Given the description of an element on the screen output the (x, y) to click on. 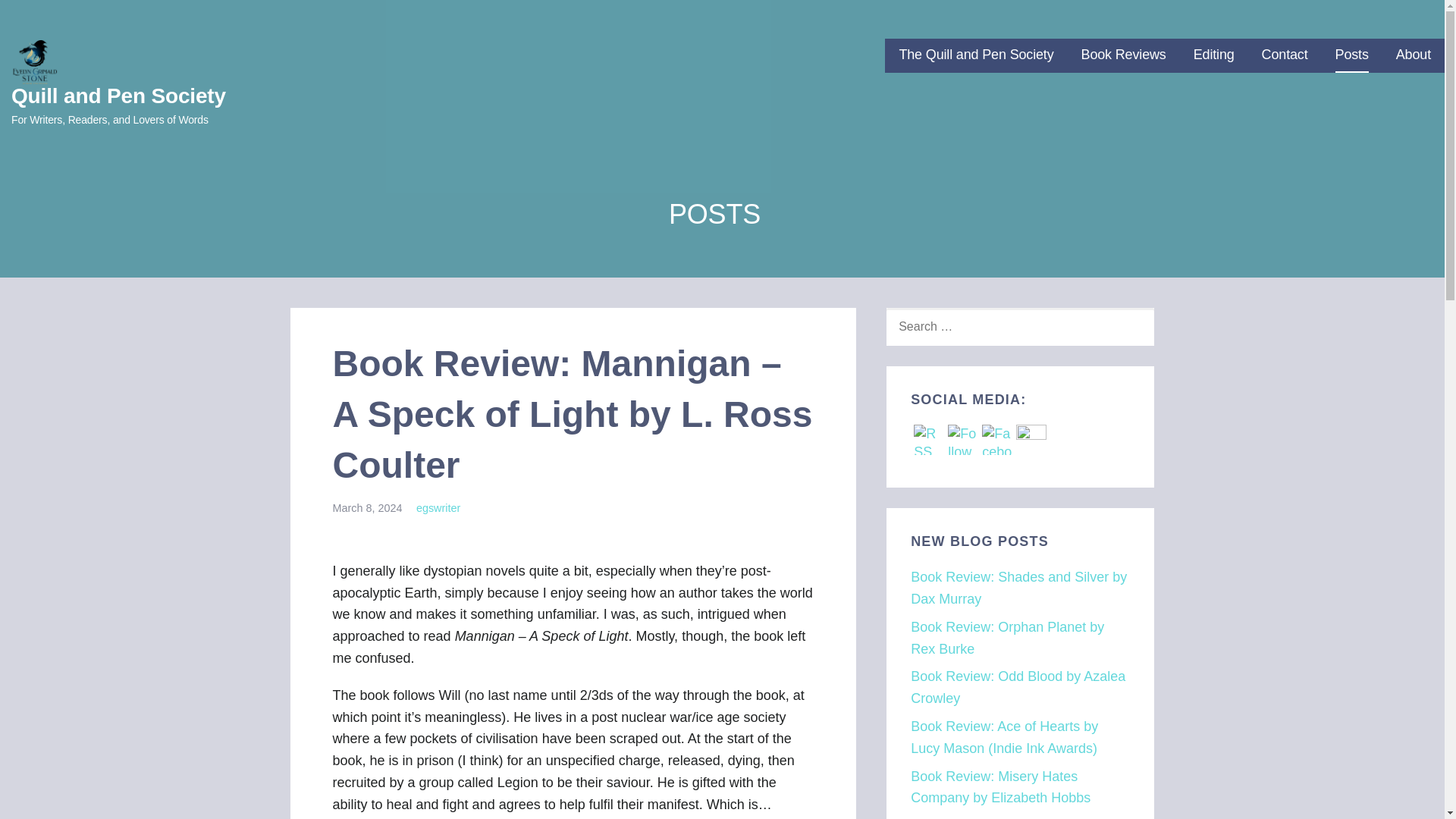
Search (47, 17)
Follow by Email (962, 440)
Book Reviews (1123, 55)
Quill and Pen Society (118, 95)
Book Review: Odd Blood by Azalea Crowley (1018, 687)
Book Review: Misery Hates Company by Elizabeth Hobbs (1000, 787)
egswriter (438, 508)
Facebook (996, 440)
Book Review: Shades and Silver by Dax Murray (1018, 587)
About (1413, 55)
